Given the description of an element on the screen output the (x, y) to click on. 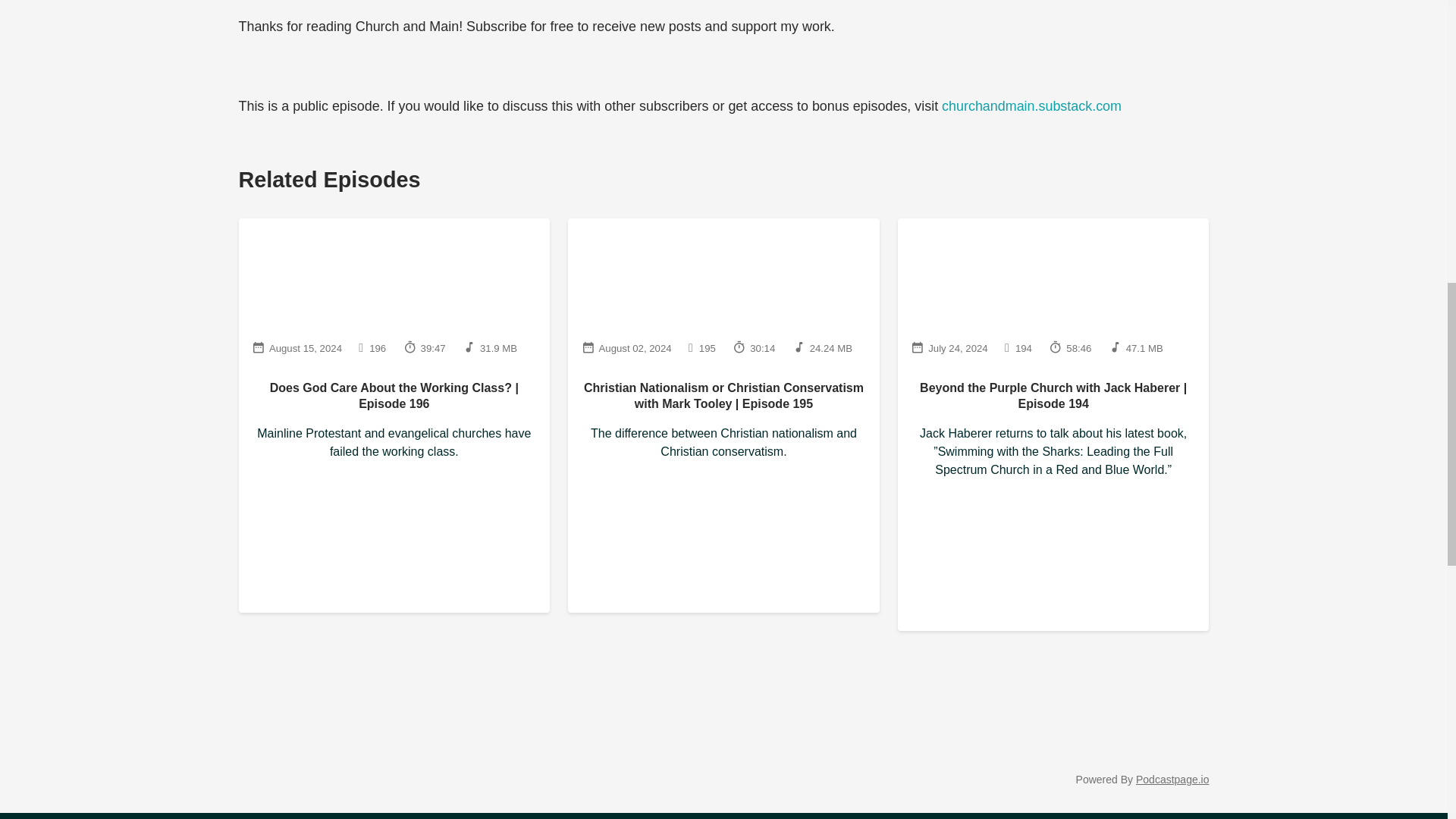
Episode Duration (424, 347)
churchandmain.substack.com (1031, 105)
Date (296, 347)
Episode Weight (489, 347)
Date (625, 347)
